Given the description of an element on the screen output the (x, y) to click on. 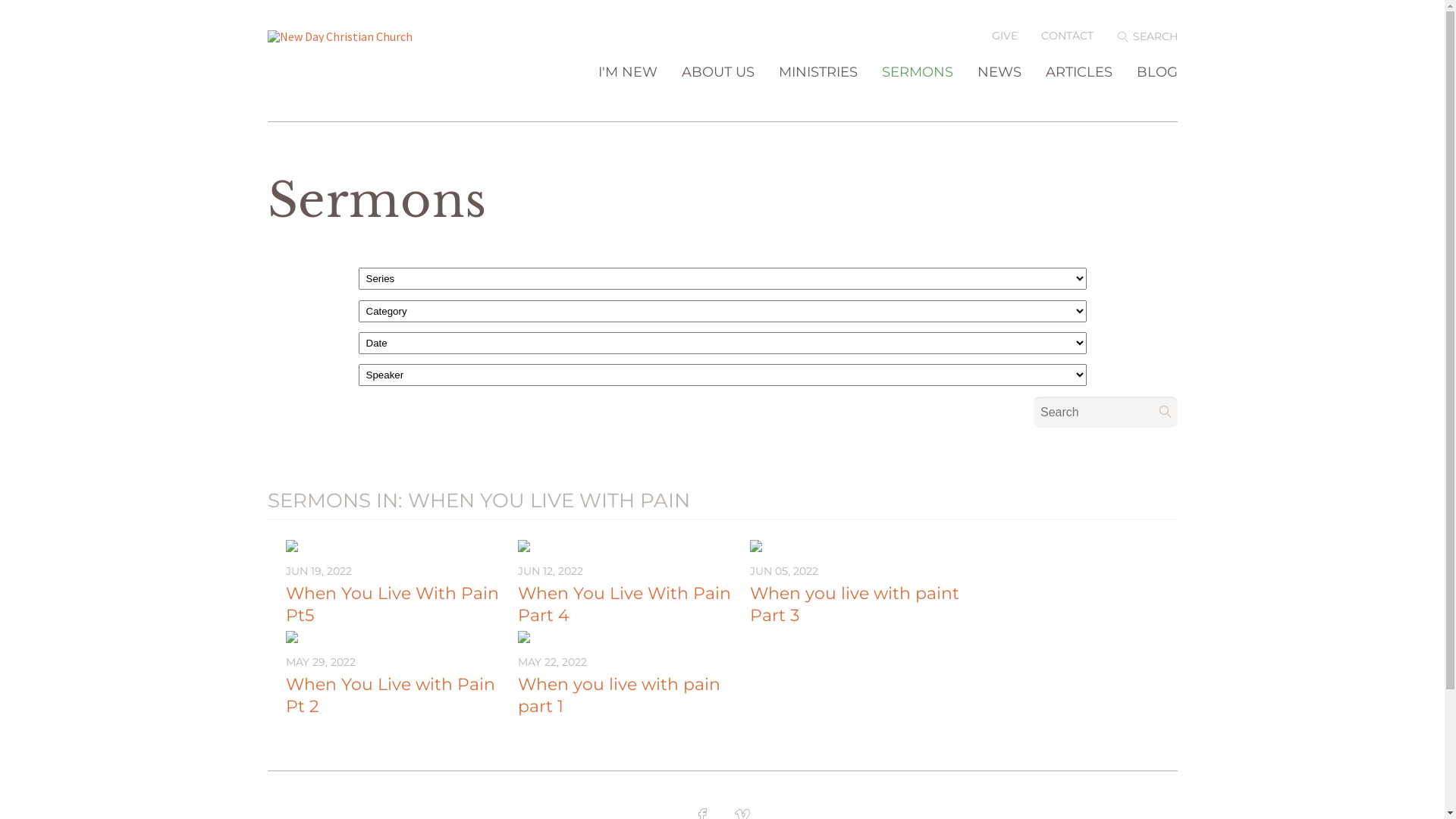
BLOG Element type: text (1155, 93)
When you live with paint Part 3 Element type: text (853, 604)
GIVE Element type: text (1004, 35)
When You Live With Pain Pt5 Element type: text (391, 604)
When You Live with Pain Pt 2 Element type: text (389, 695)
ABOUT US Element type: text (716, 93)
I'M NEW Element type: text (626, 93)
SERMONS Element type: text (916, 93)
When You Live With Pain Part 4 Element type: text (623, 604)
CONTACT Element type: text (1067, 35)
NEWS Element type: text (998, 93)
ARTICLES Element type: text (1077, 93)
When you live with pain part 1 Element type: text (618, 695)
MINISTRIES Element type: text (817, 93)
